Given the description of an element on the screen output the (x, y) to click on. 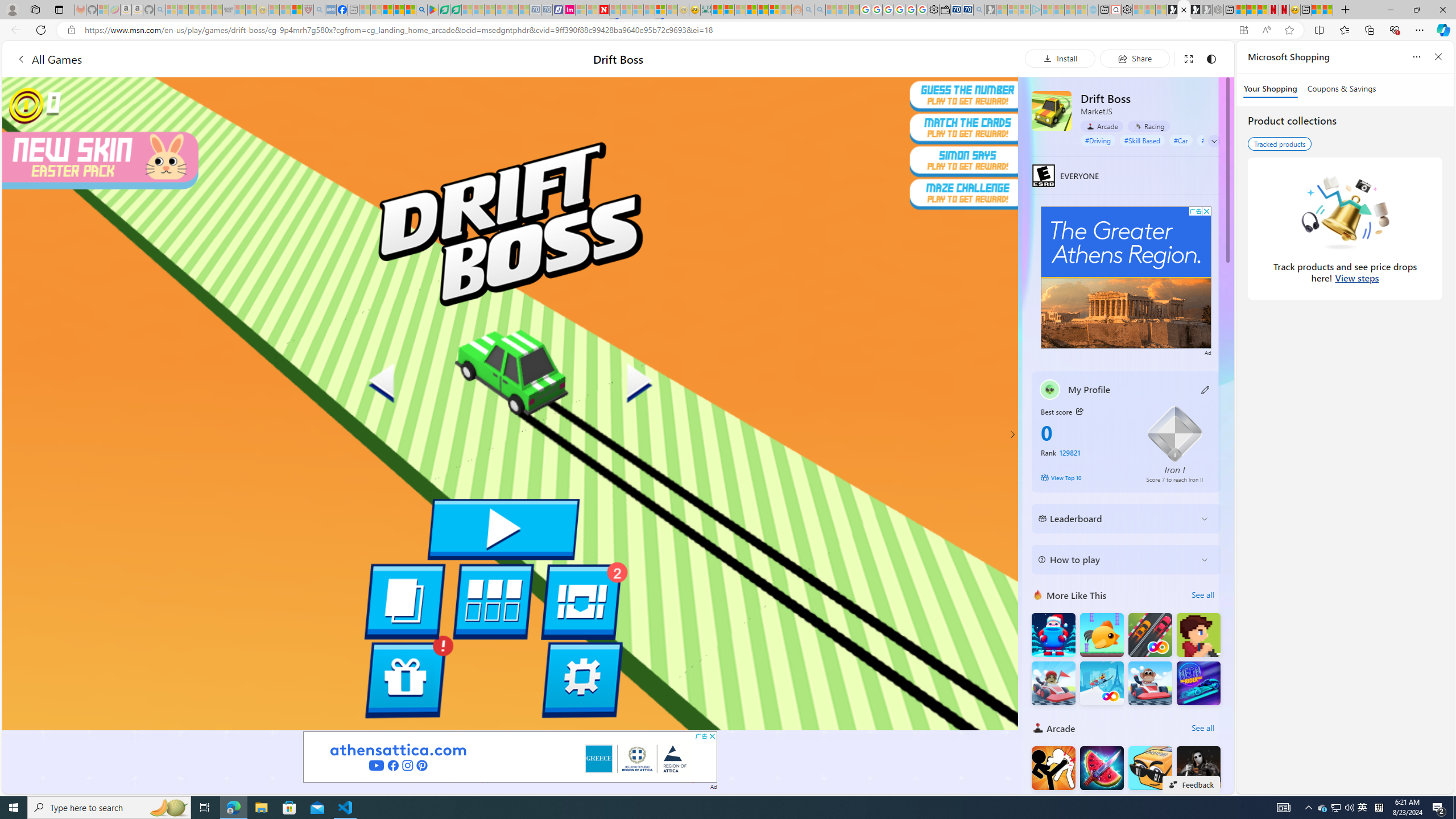
Read aloud this page (Ctrl+Shift+U) (1266, 29)
Microsoft Start Gaming - Sleeping (990, 9)
NCL Adult Asthma Inhaler Choice Guideline - Sleeping (330, 9)
Kinda Frugal - MSN (762, 9)
Browser essentials (1394, 29)
View site information (70, 29)
All Games (49, 58)
Microsoft account | Privacy (728, 9)
MSNBC - MSN (717, 9)
Latest Politics News & Archive | Newsweek.com (603, 9)
Refresh (40, 29)
